Given the description of an element on the screen output the (x, y) to click on. 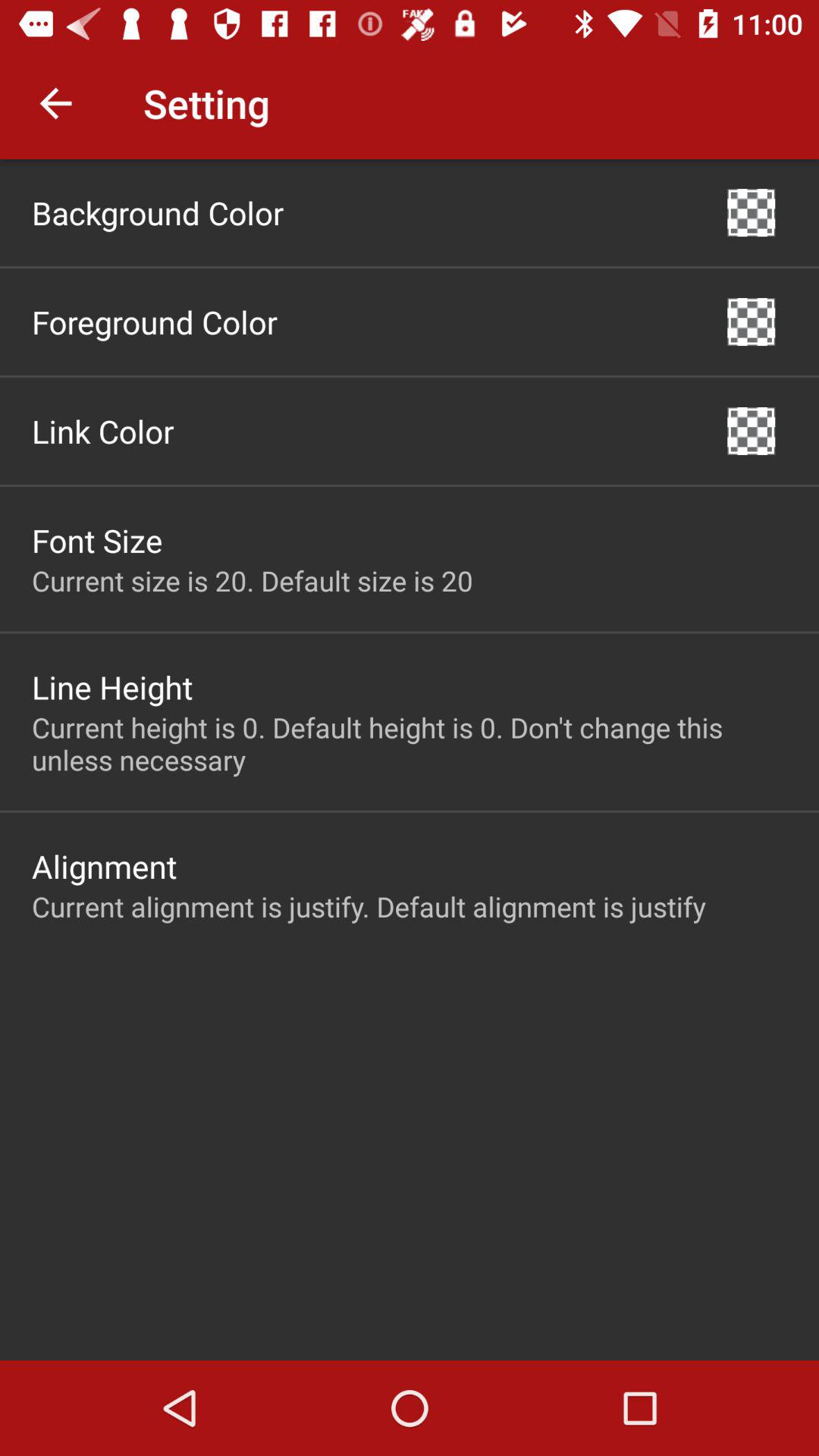
open icon below foreground color (102, 430)
